Given the description of an element on the screen output the (x, y) to click on. 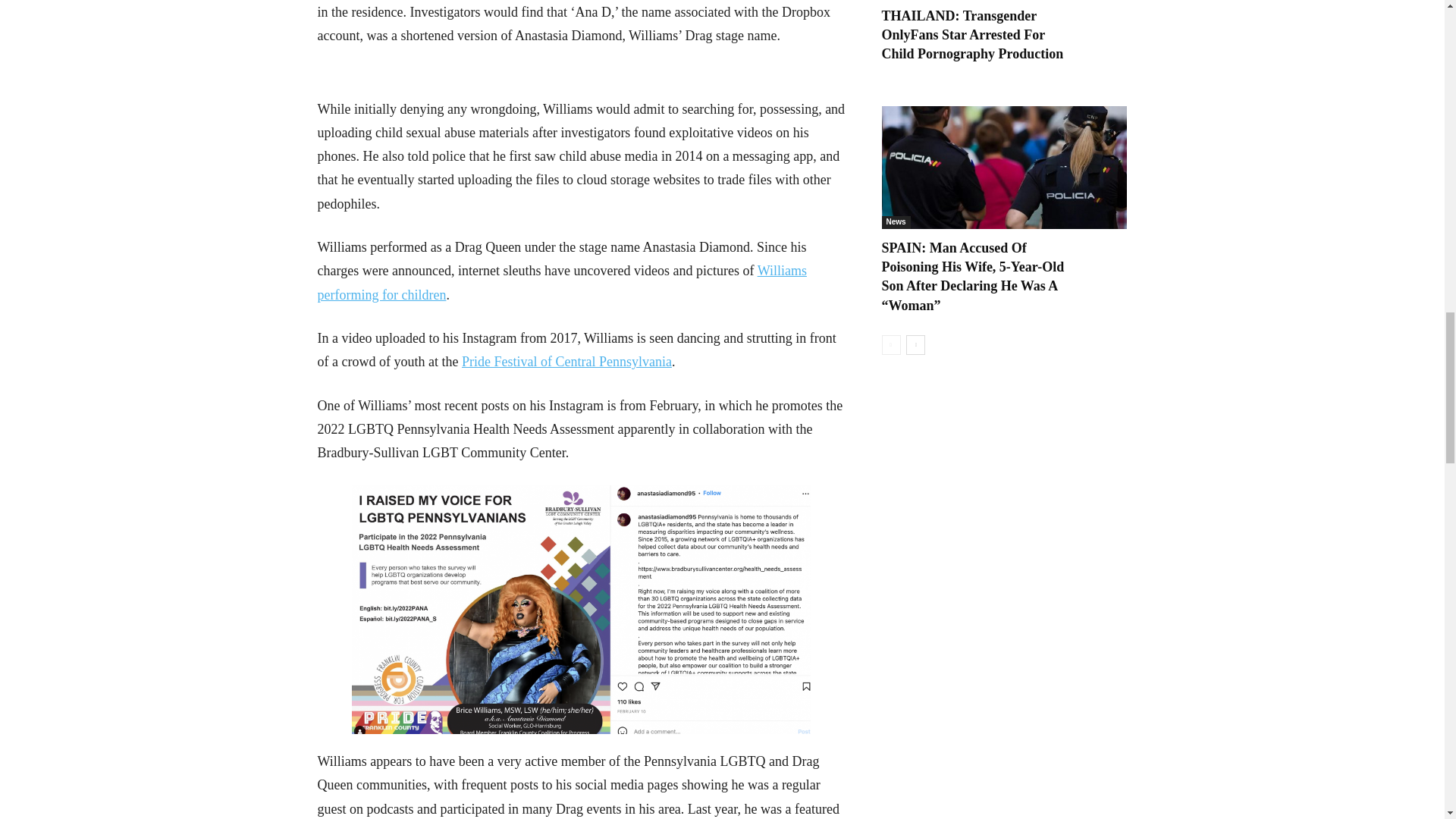
Pride Festival of Central Pennsylvania (566, 361)
Williams performing for children (561, 282)
